Given the description of an element on the screen output the (x, y) to click on. 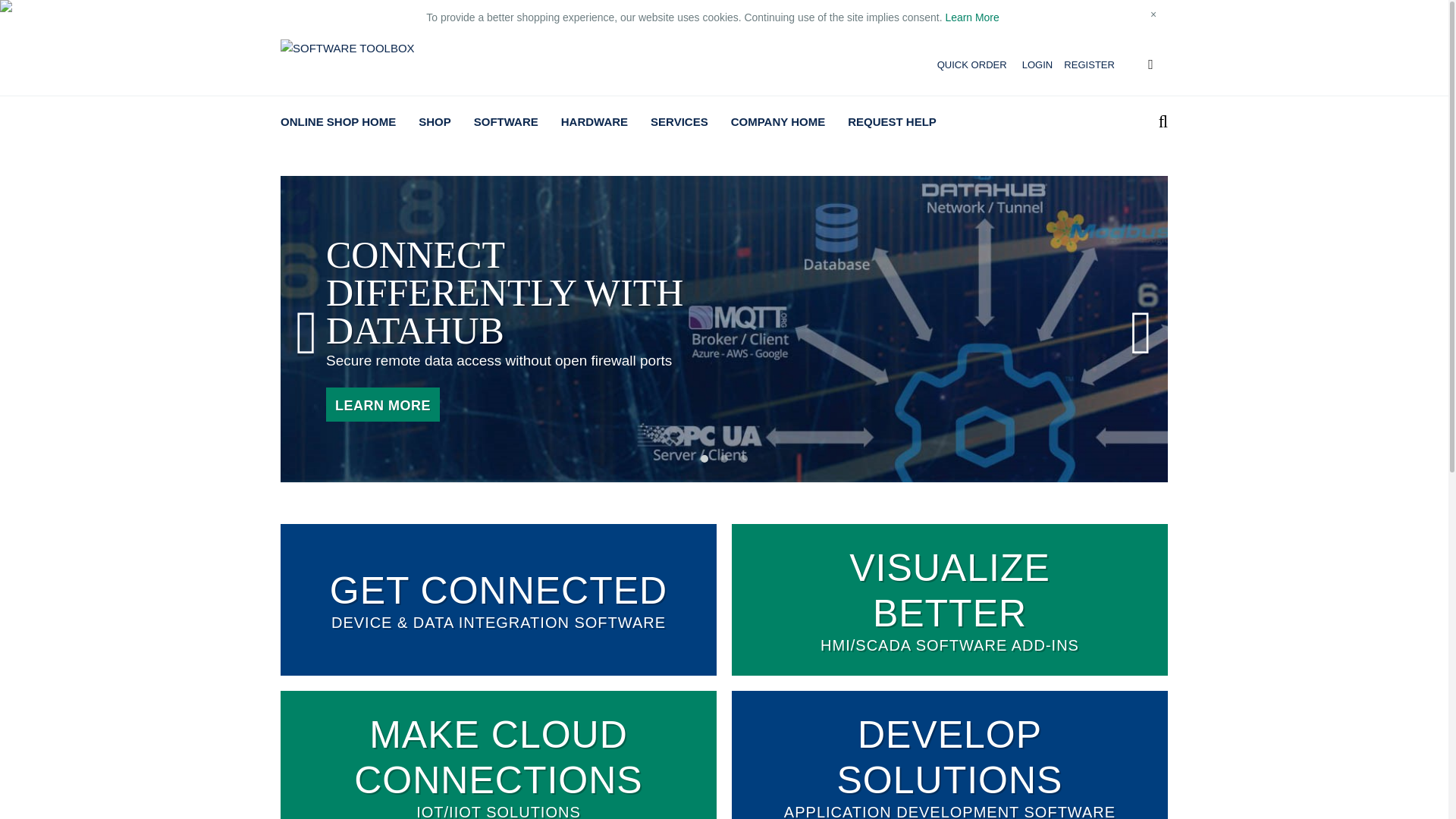
SERVICES (679, 122)
ONLINE SHOP HOME (338, 122)
COMPANY HOME (777, 122)
LEARN MORE (382, 404)
SHOP (435, 122)
Software Toolbox (348, 47)
SOFTWARE (506, 122)
Cart (1150, 65)
REGISTER (1083, 64)
Learn More (971, 17)
REQUEST HELP (891, 122)
QUICK ORDER (966, 64)
Connect Differently with DataHub (382, 404)
HARDWARE (594, 122)
LOGIN (1031, 64)
